Given the description of an element on the screen output the (x, y) to click on. 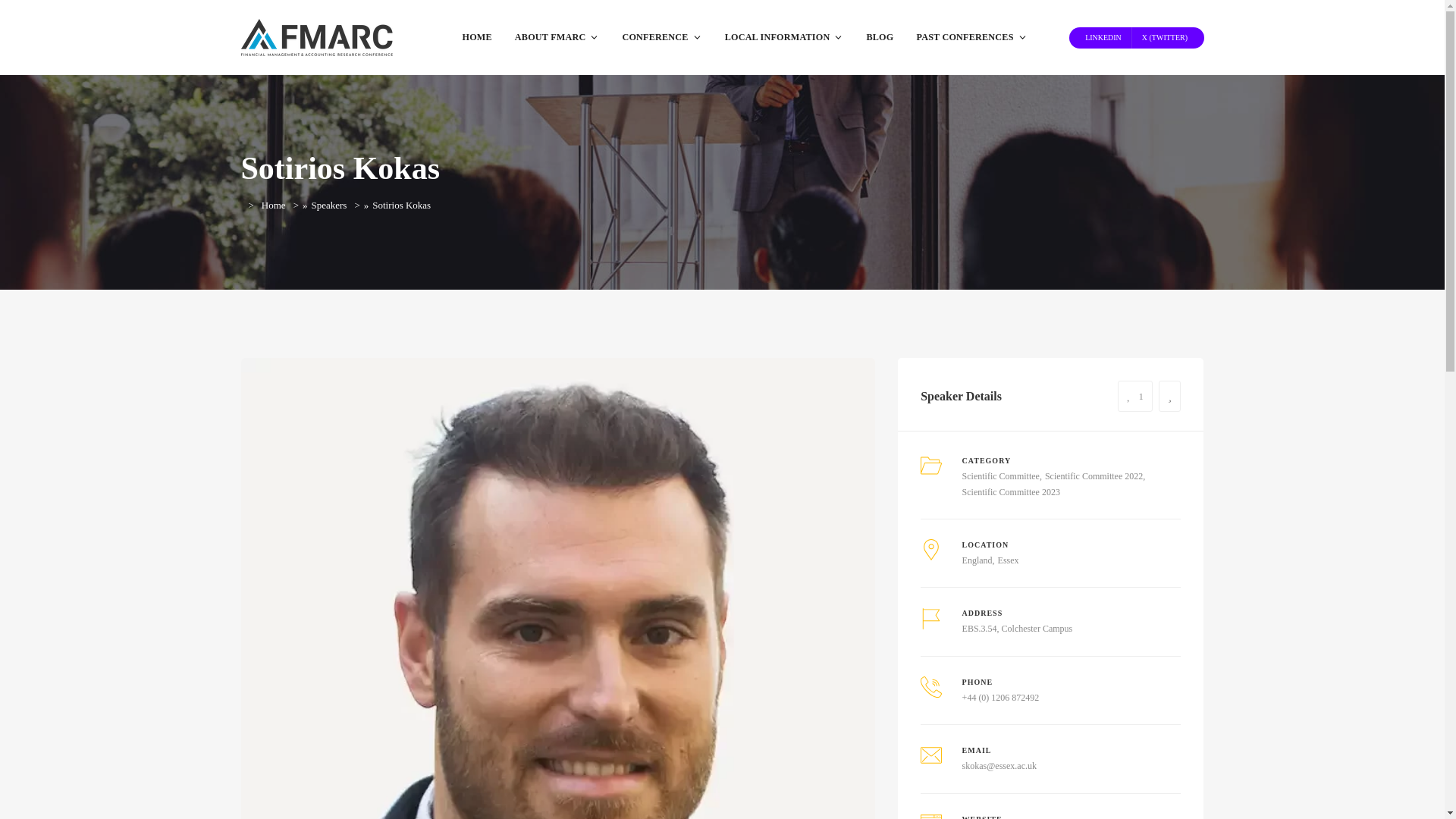
HOME (475, 37)
CONFERENCE (661, 37)
ABOUT FMARC (557, 37)
